Given the description of an element on the screen output the (x, y) to click on. 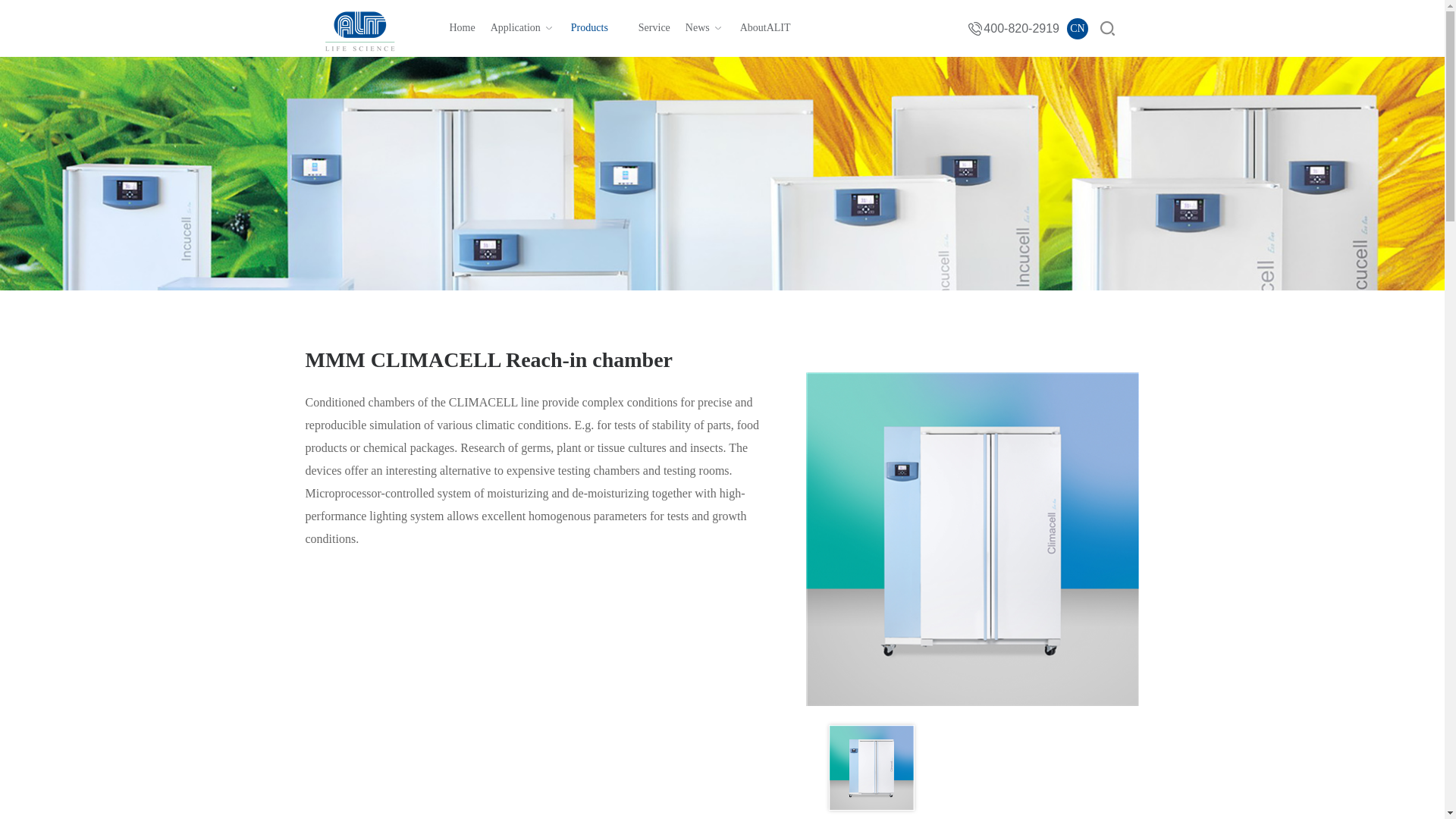
Home (461, 27)
Products (596, 27)
Application (523, 27)
